Given the description of an element on the screen output the (x, y) to click on. 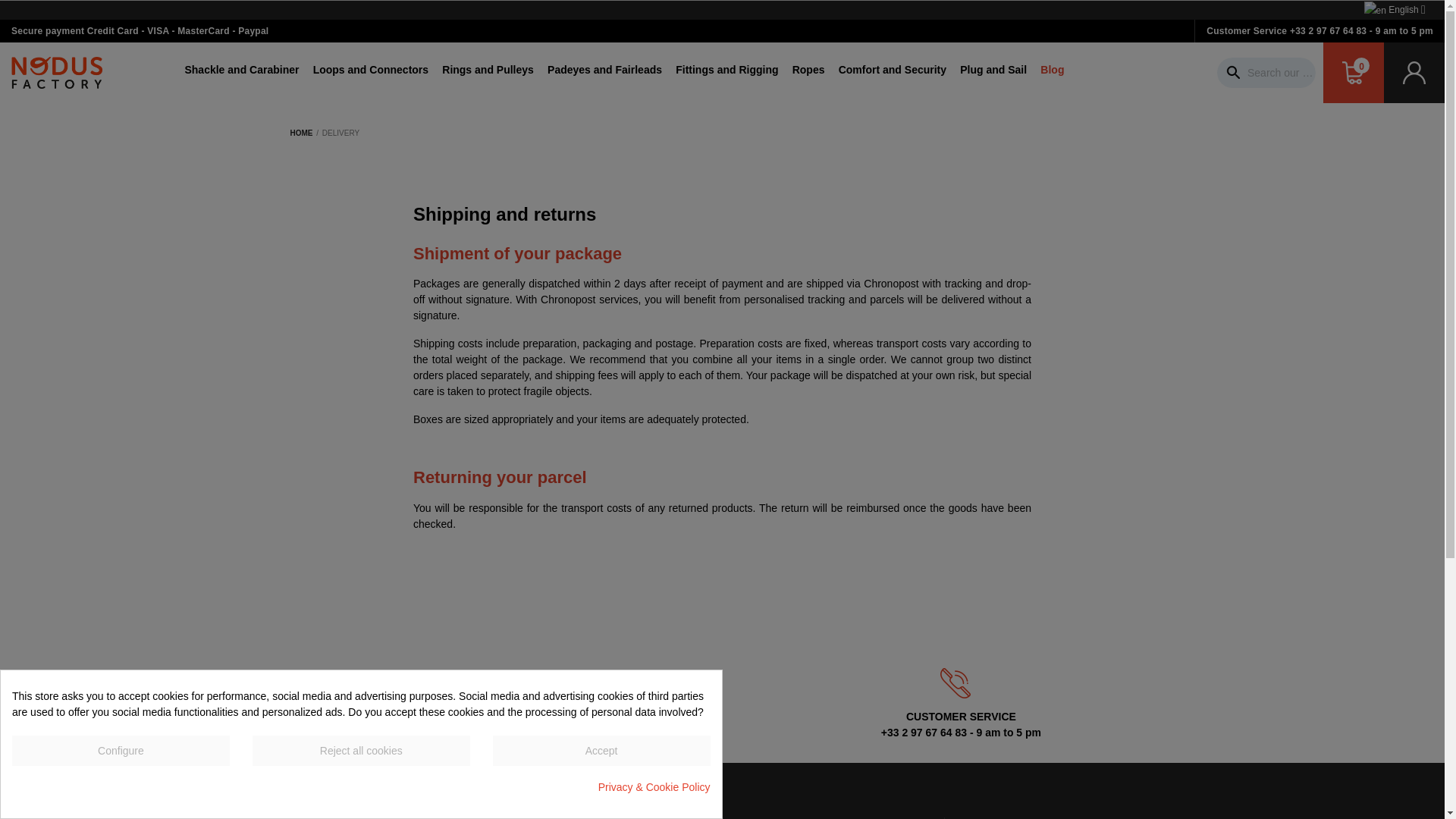
Nodus Factory (56, 72)
Fittings and Rigging (726, 73)
Shackle and Carabiner (241, 73)
Rings and Pulleys (487, 73)
Blog (1051, 73)
Plug and Sail (993, 73)
Padeyes and Fairleads (604, 73)
Loops and Connectors (370, 73)
Ropes (808, 73)
Comfort and Security (892, 73)
